Given the description of an element on the screen output the (x, y) to click on. 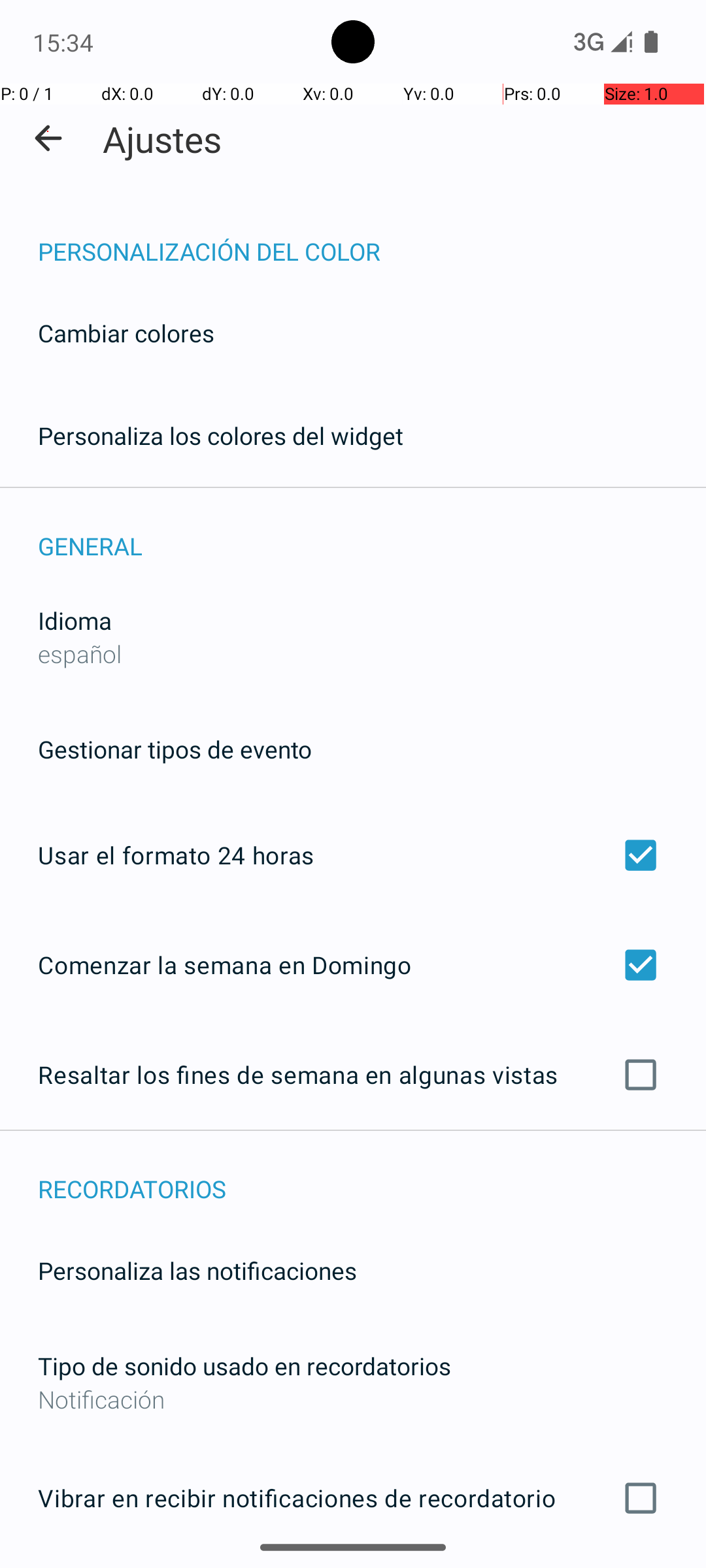
PERSONALIZACIÓN DEL COLOR Element type: android.widget.TextView (371, 237)
RECORDATORIOS Element type: android.widget.TextView (371, 1174)
Cambiar colores Element type: android.widget.TextView (125, 332)
Personaliza los colores del widget Element type: android.widget.TextView (220, 435)
Idioma Element type: android.widget.TextView (74, 620)
español Element type: android.widget.TextView (79, 653)
Gestionar tipos de evento Element type: android.widget.TextView (174, 748)
Usar el formato 24 horas Element type: android.widget.CheckBox (352, 855)
Comenzar la semana en Domingo Element type: android.widget.CheckBox (352, 964)
Resaltar los fines de semana en algunas vistas Element type: android.widget.CheckBox (352, 1074)
Personaliza las notificaciones Element type: android.widget.TextView (196, 1270)
Tipo de sonido usado en recordatorios Element type: android.widget.TextView (244, 1365)
Notificación Element type: android.widget.TextView (352, 1398)
Vibrar en recibir notificaciones de recordatorio Element type: android.widget.CheckBox (352, 1497)
Repetir recordatorios hasta ser descartados Element type: android.widget.CheckBox (352, 1567)
